Given the description of an element on the screen output the (x, y) to click on. 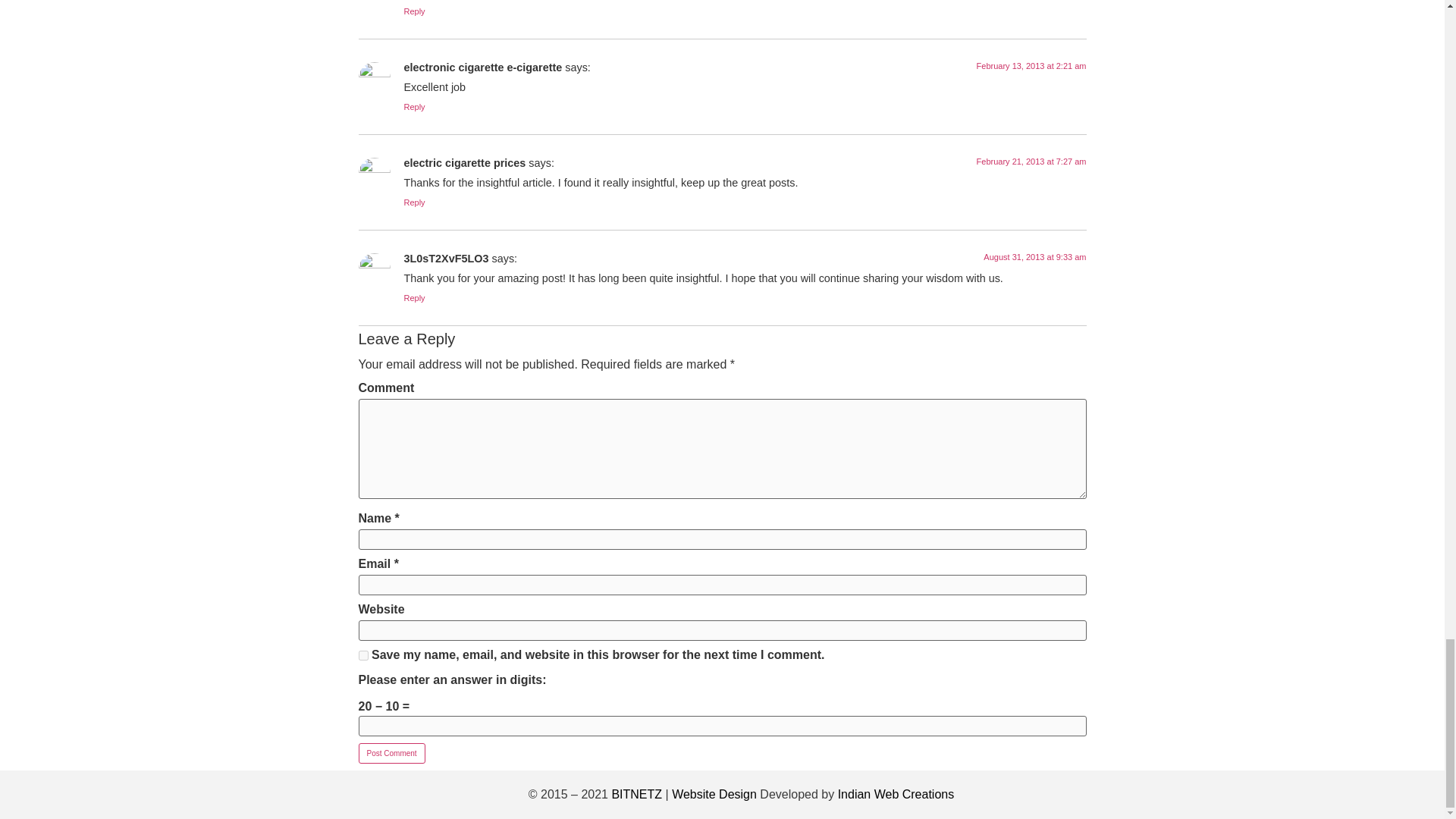
Post Comment (391, 752)
GOGUL (896, 793)
yes (363, 655)
